Given the description of an element on the screen output the (x, y) to click on. 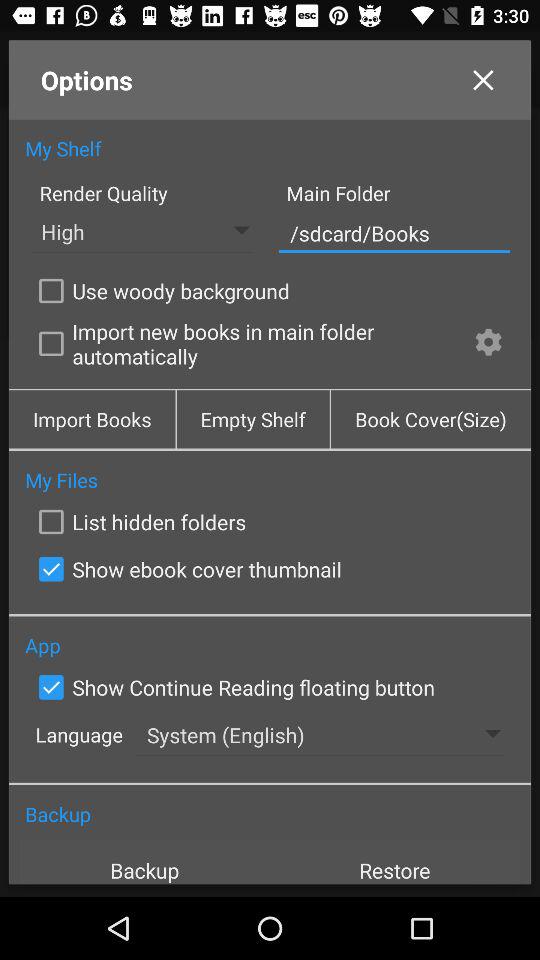
click app below /sdcard/books app (159, 290)
